Given the description of an element on the screen output the (x, y) to click on. 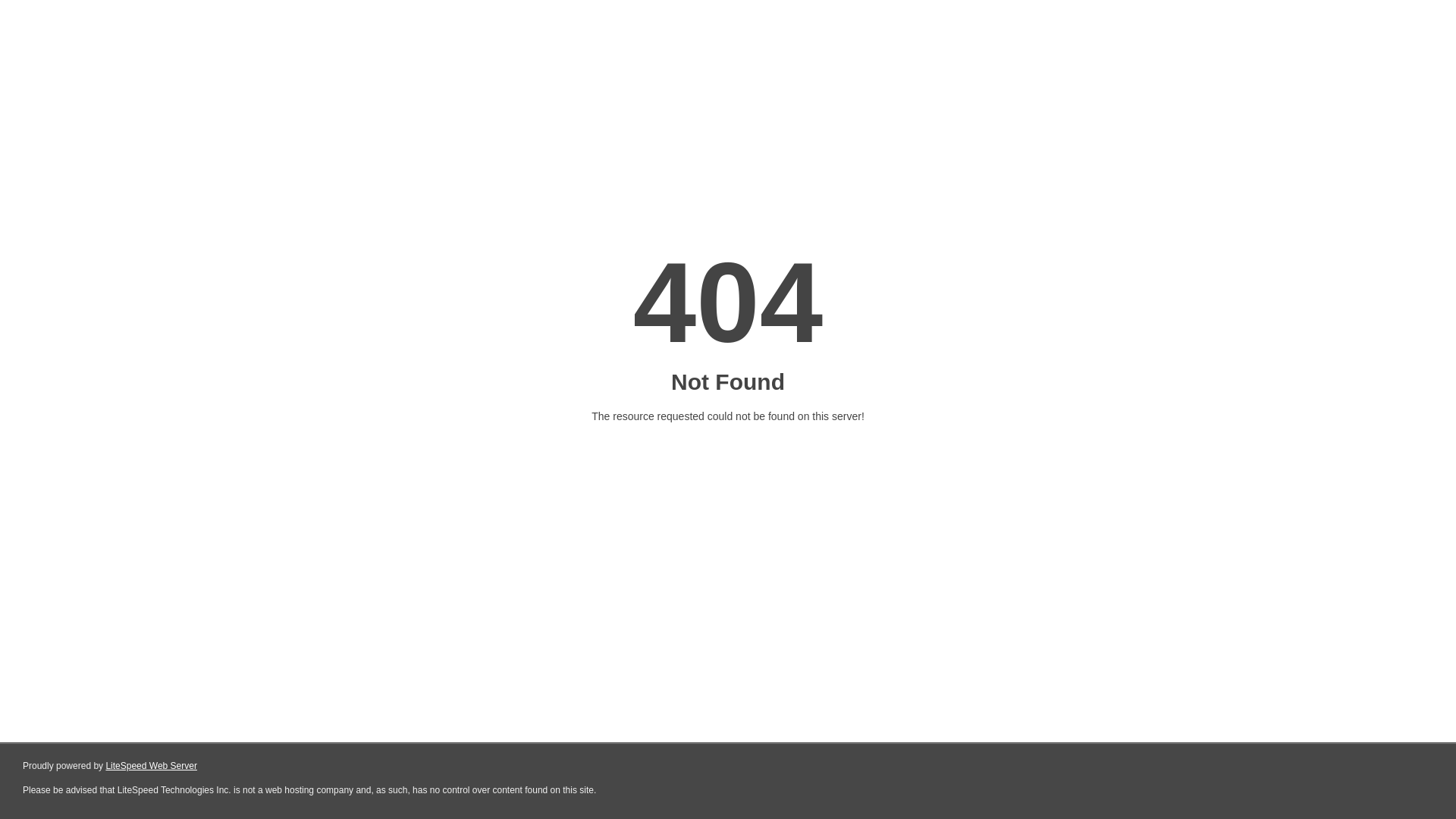
LiteSpeed Web Server Element type: text (151, 765)
